Given the description of an element on the screen output the (x, y) to click on. 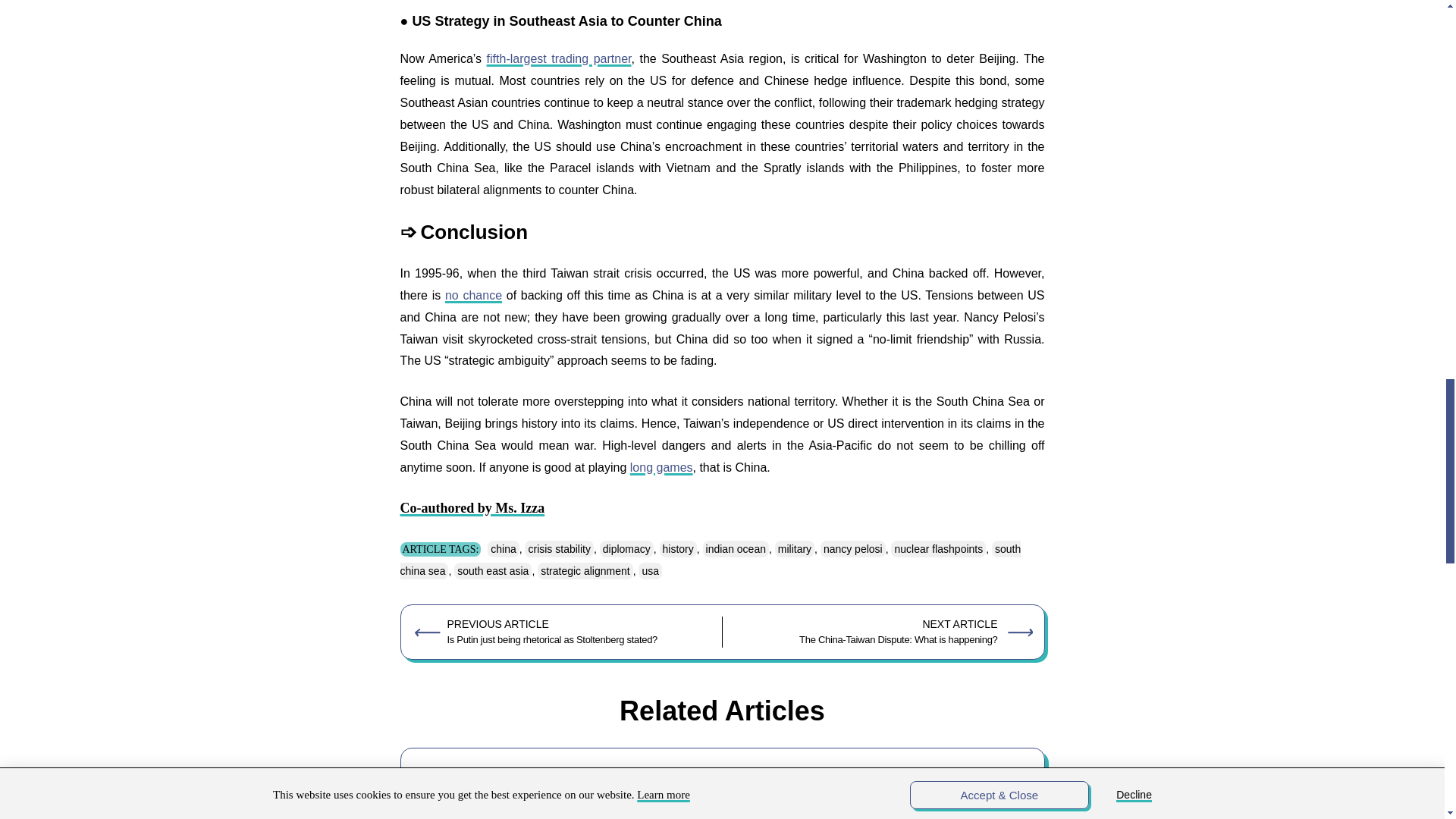
long games (661, 467)
fifth-largest trading partner (558, 58)
no chance (473, 295)
